Given the description of an element on the screen output the (x, y) to click on. 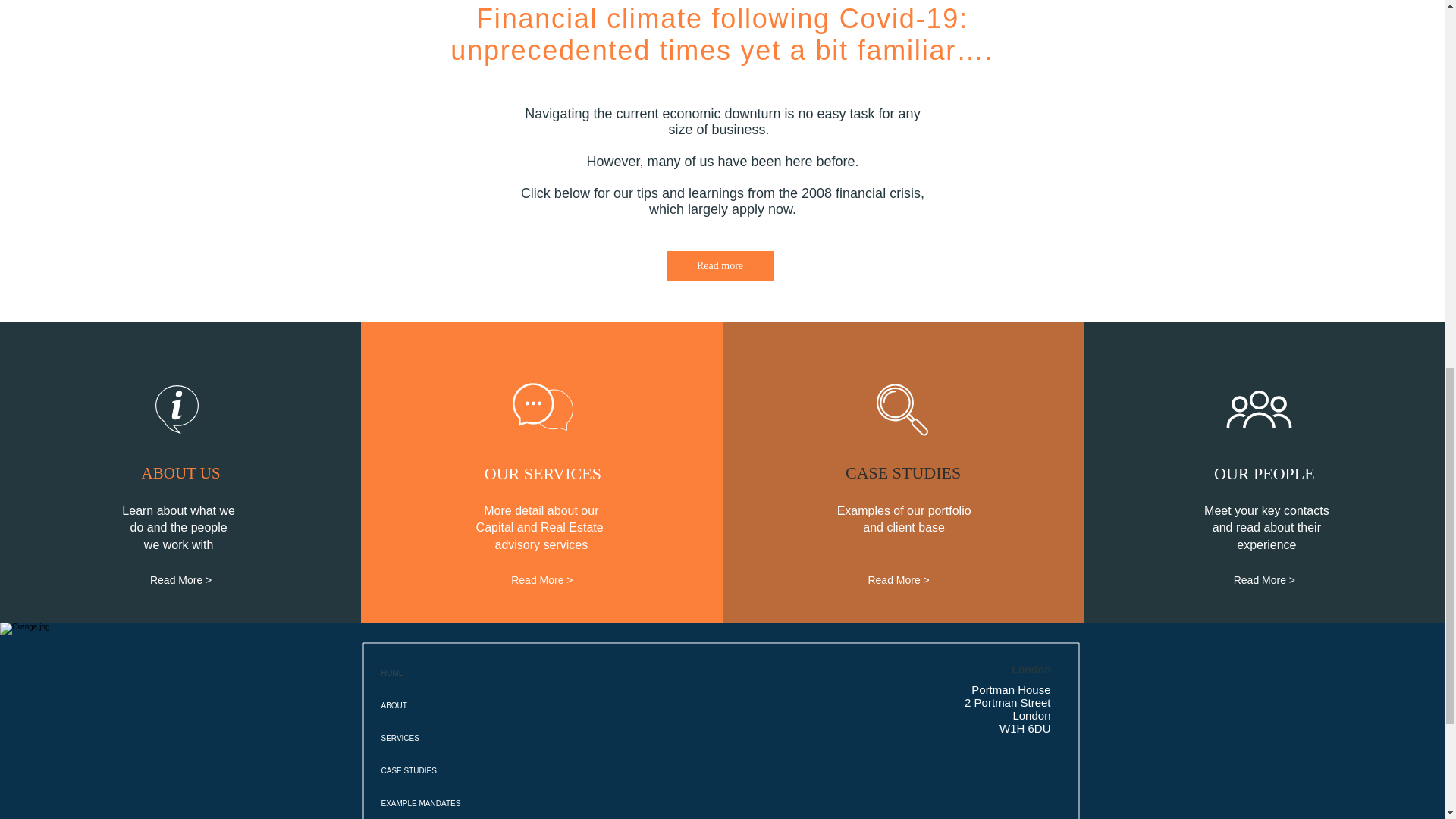
CASE STUDIES (902, 473)
ABOUT US (180, 473)
OUR PEOPLE (1263, 474)
SERVICES (498, 737)
CASE STUDIES (498, 770)
HOME (498, 672)
Read more (719, 265)
OUR SERVICES (542, 474)
ABOUT (498, 705)
EXAMPLE MANDATES (498, 803)
